Given the description of an element on the screen output the (x, y) to click on. 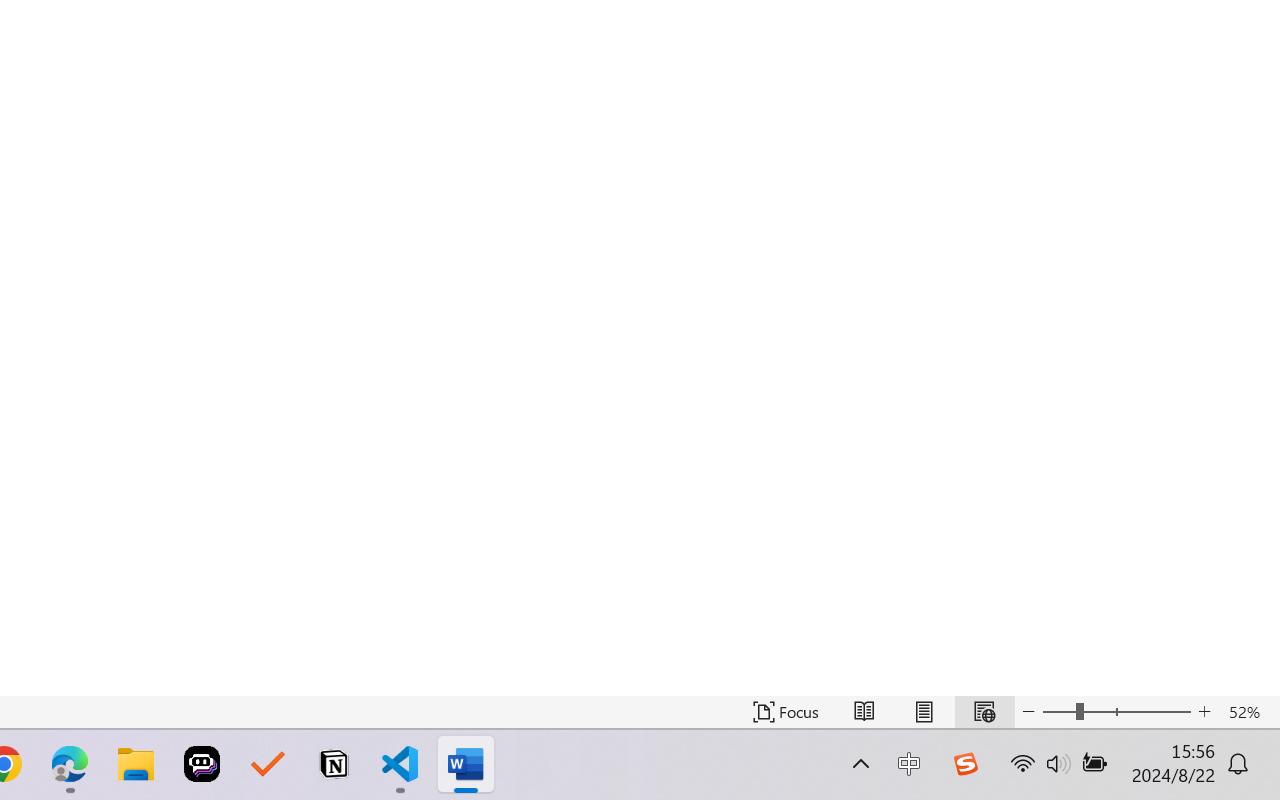
Zoom Out (1058, 712)
Zoom (1116, 712)
Web Layout (984, 712)
Focus  (786, 712)
Read Mode (864, 712)
Class: Image (965, 764)
Print Layout (924, 712)
Zoom In (1204, 712)
Zoom 52% (1249, 712)
